Given the description of an element on the screen output the (x, y) to click on. 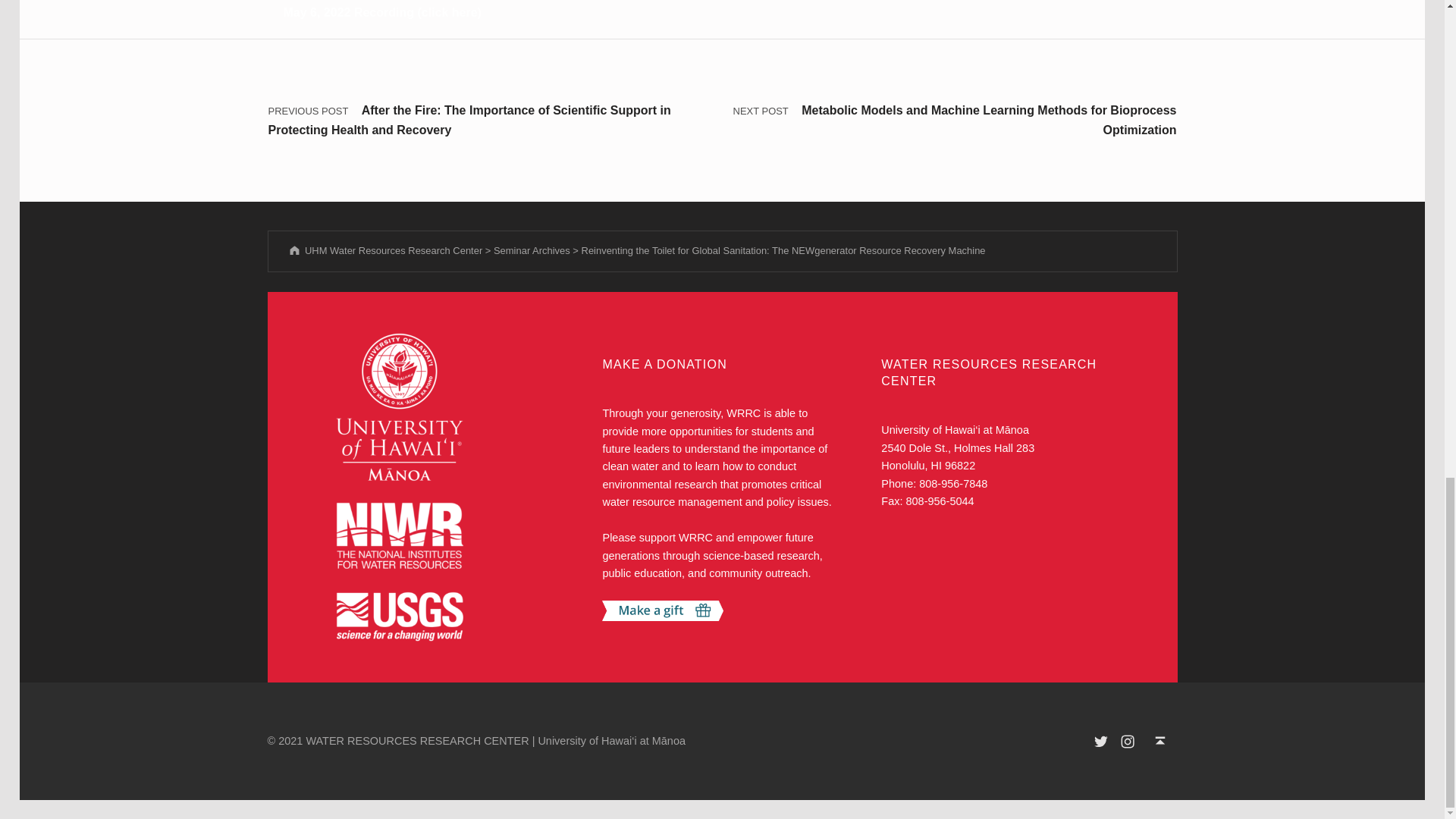
Back to top (1160, 740)
Go to the Seminar Archives Category archives. (531, 250)
Go to UHM Water Resources Research Center. (383, 250)
